Given the description of an element on the screen output the (x, y) to click on. 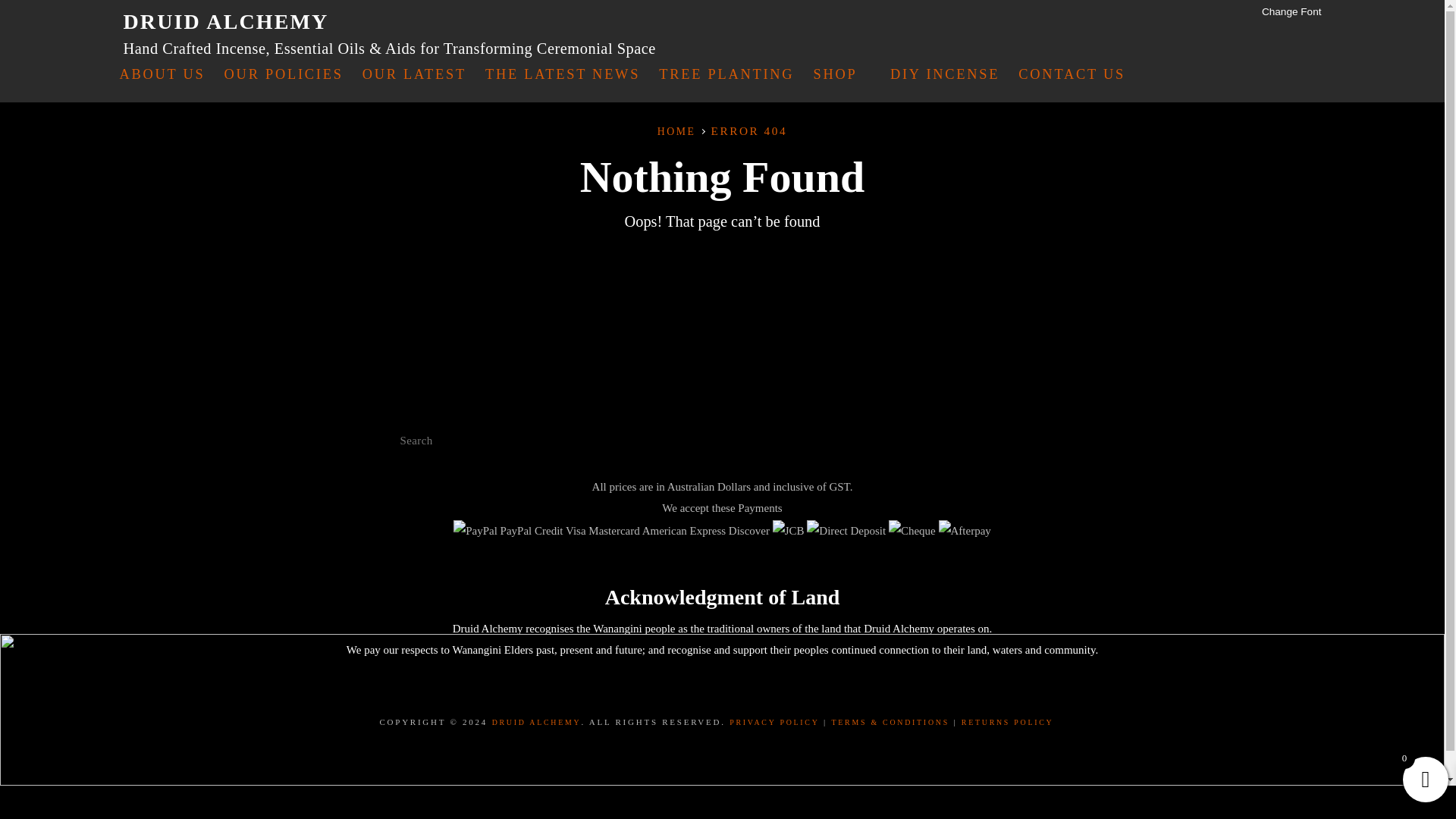
DRUID ALCHEMY (225, 21)
RETURNS POLICY (1007, 722)
ABOUT US (162, 74)
Cheque (912, 530)
Afterpay (965, 530)
DIY INCENSE (944, 74)
PRIVACY POLICY (773, 722)
Direct Deposit (845, 530)
HOME (676, 131)
